Given the description of an element on the screen output the (x, y) to click on. 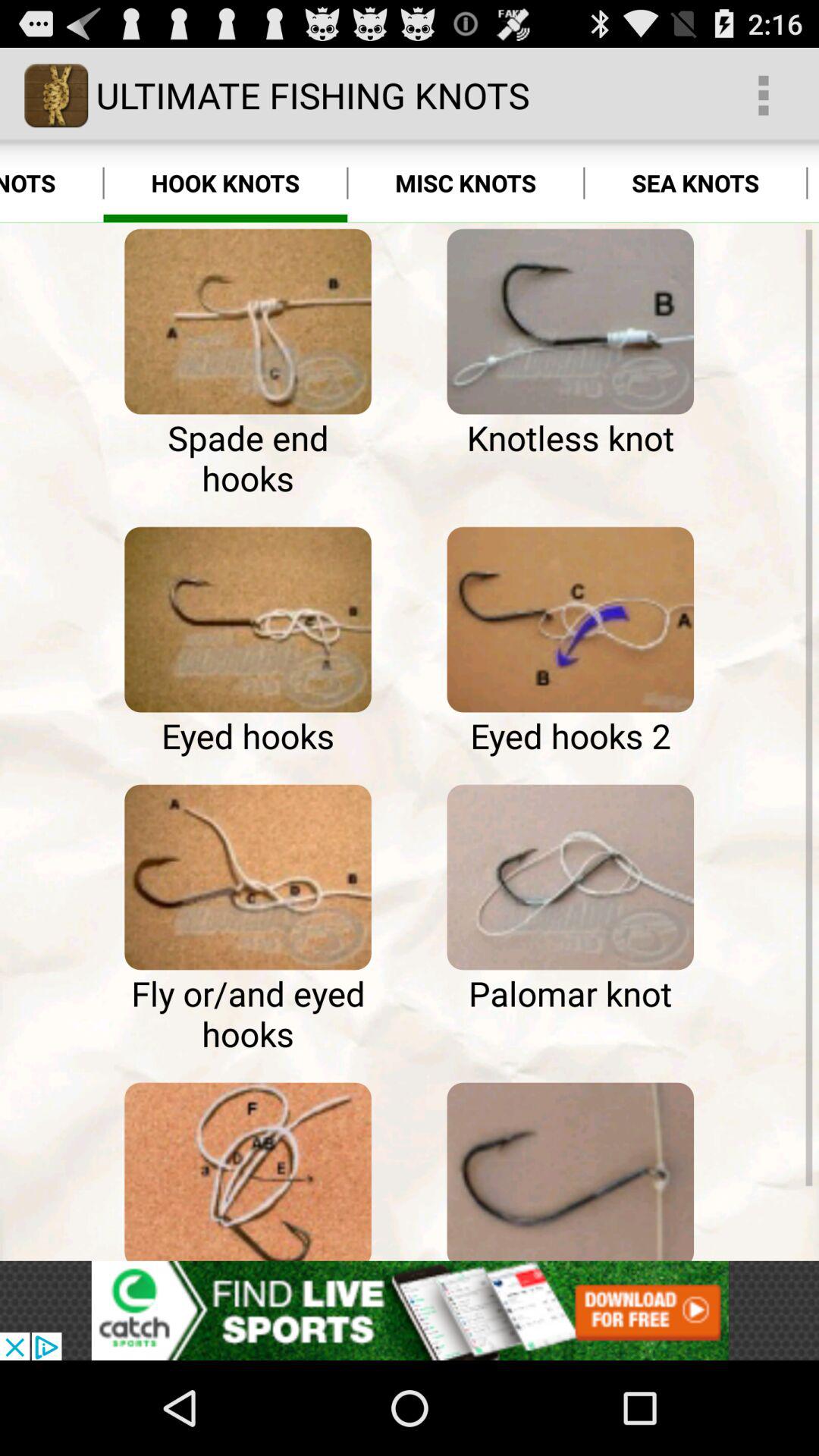
image selection button (570, 1168)
